Given the description of an element on the screen output the (x, y) to click on. 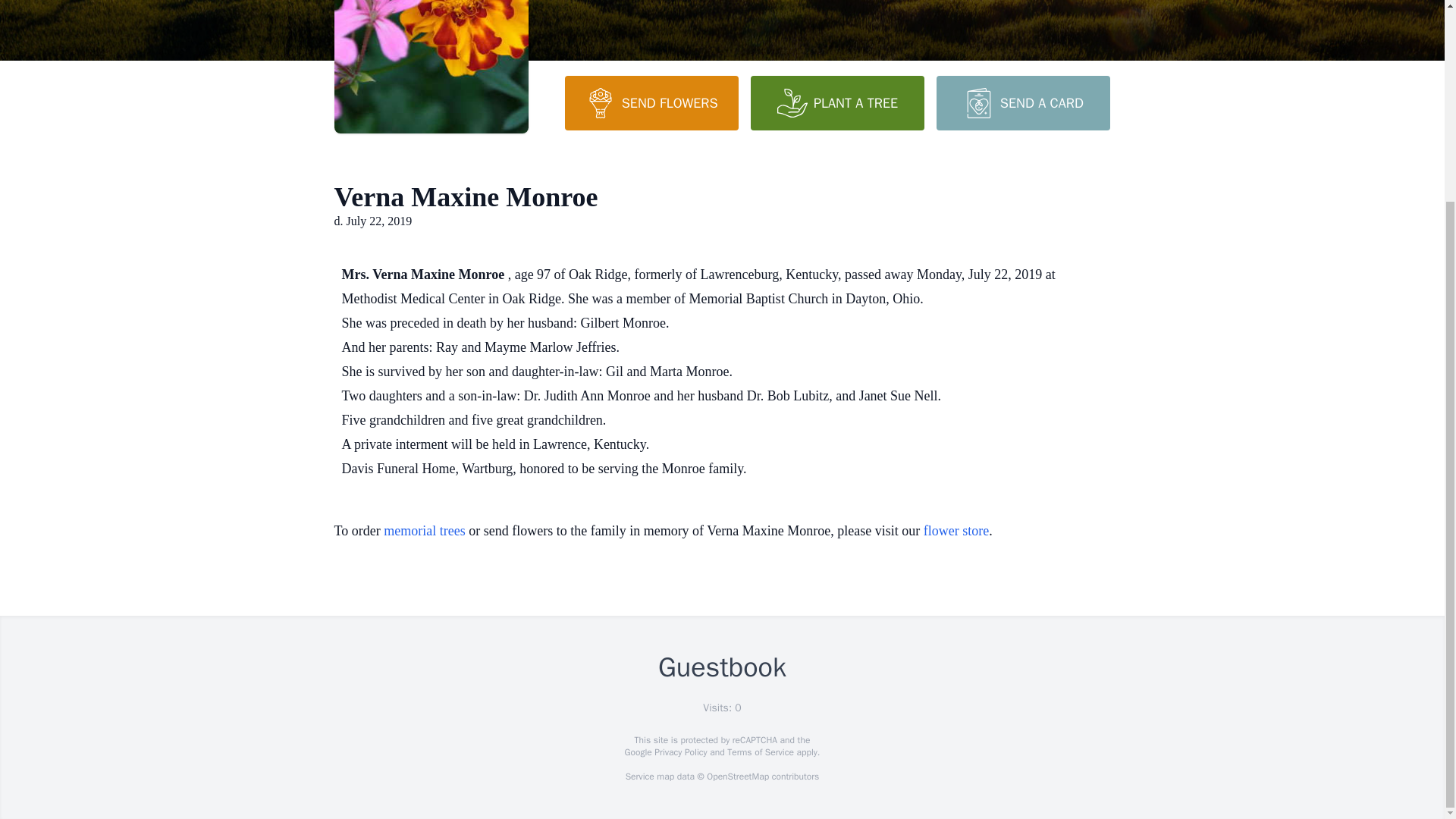
OpenStreetMap (737, 776)
flower store (955, 530)
SEND A CARD (1022, 103)
memorial trees (424, 530)
PLANT A TREE (837, 103)
Privacy Policy (679, 752)
SEND FLOWERS (651, 103)
Terms of Service (759, 752)
